Given the description of an element on the screen output the (x, y) to click on. 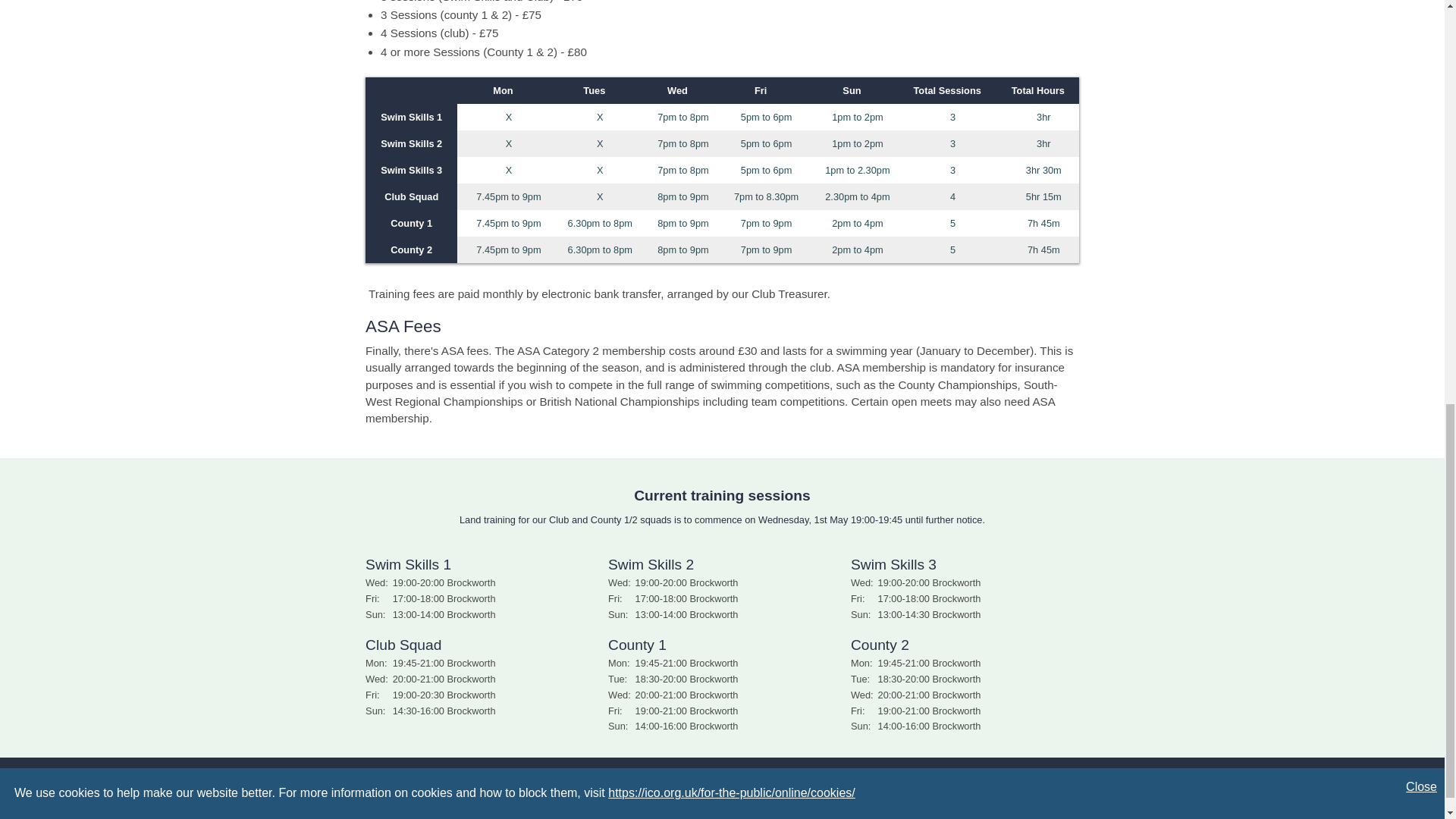
Welfare (777, 775)
Web design in Cheltenham by Bluelinemedia (721, 814)
Privacy Policy (723, 775)
Web design in Cheltenham by Bluelinemedia (721, 814)
Sitemap (667, 775)
